Given the description of an element on the screen output the (x, y) to click on. 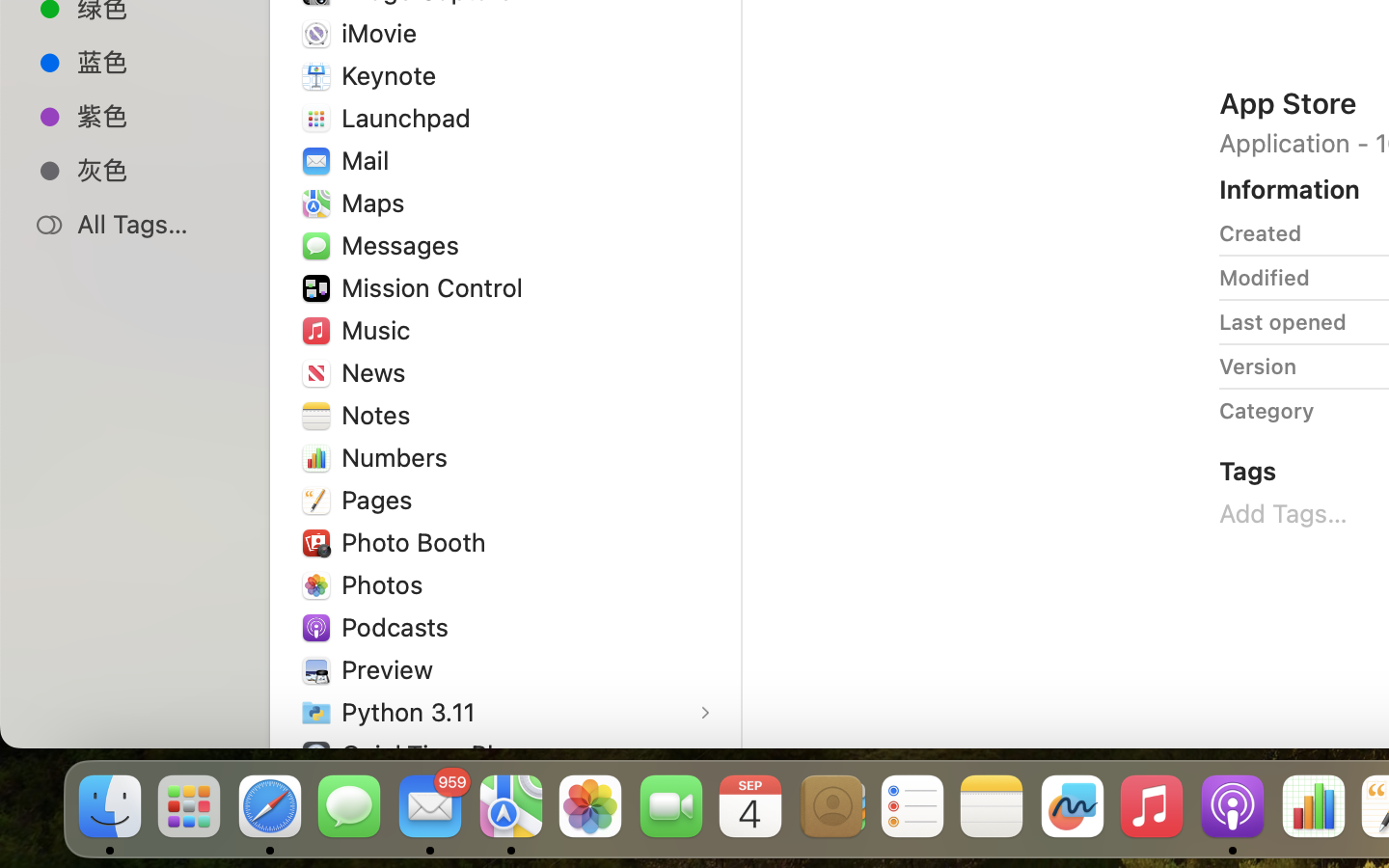
Mail Element type: AXTextField (369, 159)
Category Element type: AXStaticText (1266, 410)
Created Element type: AXStaticText (1260, 232)
Tags Element type: AXStaticText (1247, 470)
All Tags… Element type: AXStaticText (155, 223)
